Given the description of an element on the screen output the (x, y) to click on. 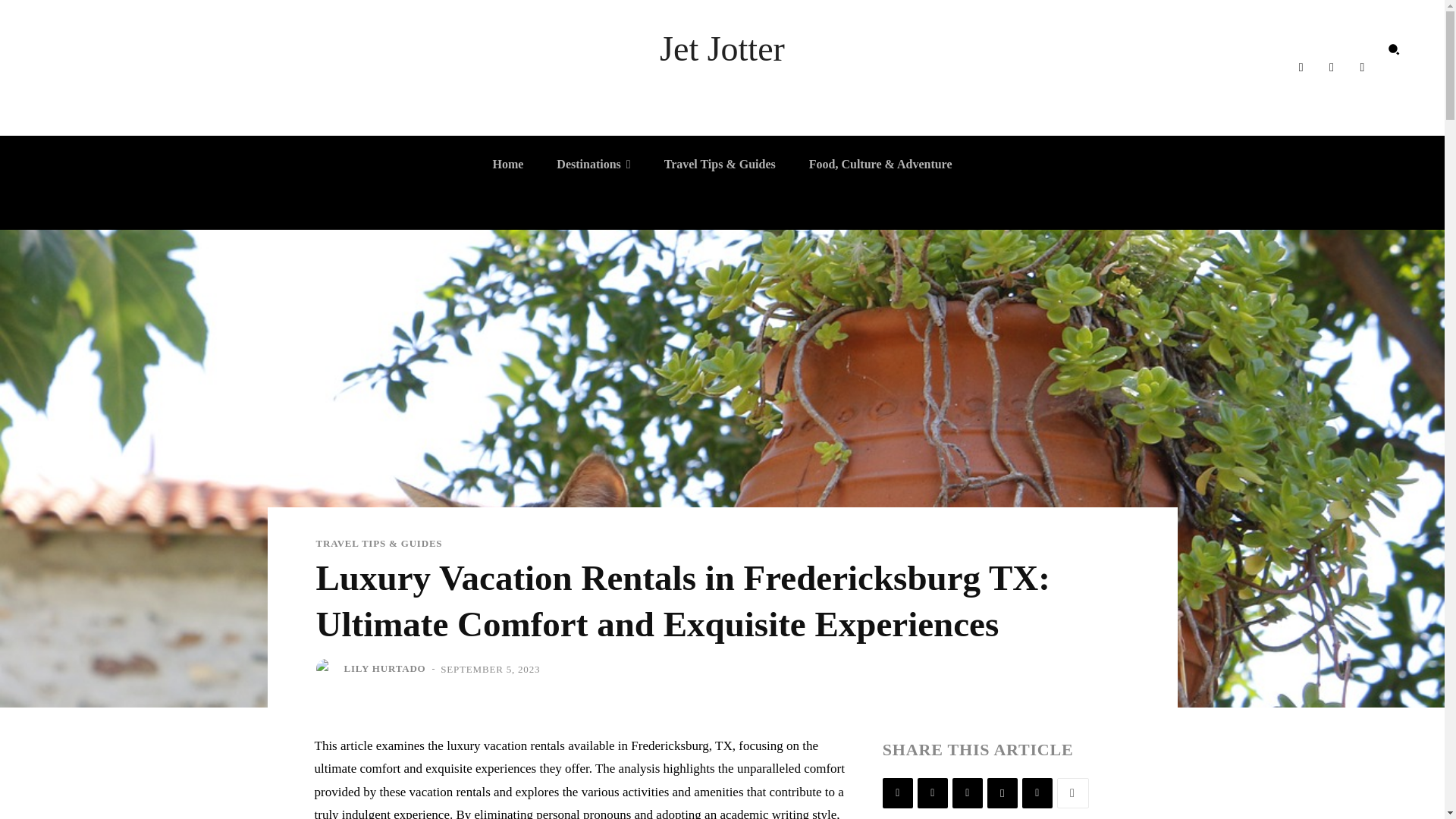
Linkedin (967, 793)
Facebook (897, 793)
Twitter (1362, 67)
LILY HURTADO (384, 668)
Lily Hurtado (327, 668)
Jet Jotter (722, 49)
Instagram (1331, 67)
Destinations (593, 164)
Twitter (932, 793)
Home (507, 164)
Facebook (1299, 67)
Email (1002, 793)
